Given the description of an element on the screen output the (x, y) to click on. 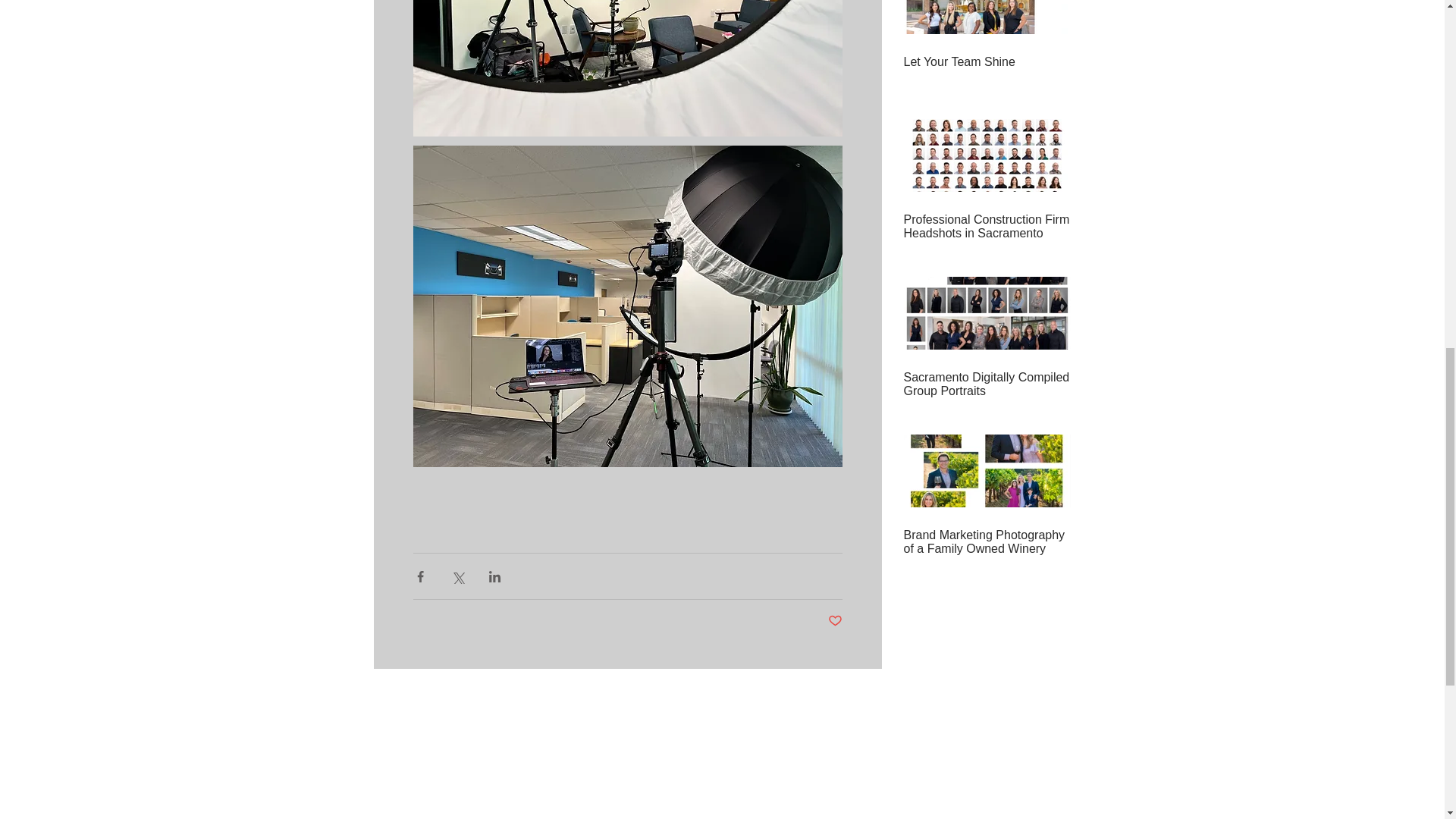
Let Your Team Shine (987, 61)
Sacramento Digitally Compiled Group Portraits (987, 384)
Professional Construction Firm Headshots in Sacramento (987, 226)
Brand Marketing Photography of a Family Owned Winery (987, 542)
Post not marked as liked (835, 621)
